Given the description of an element on the screen output the (x, y) to click on. 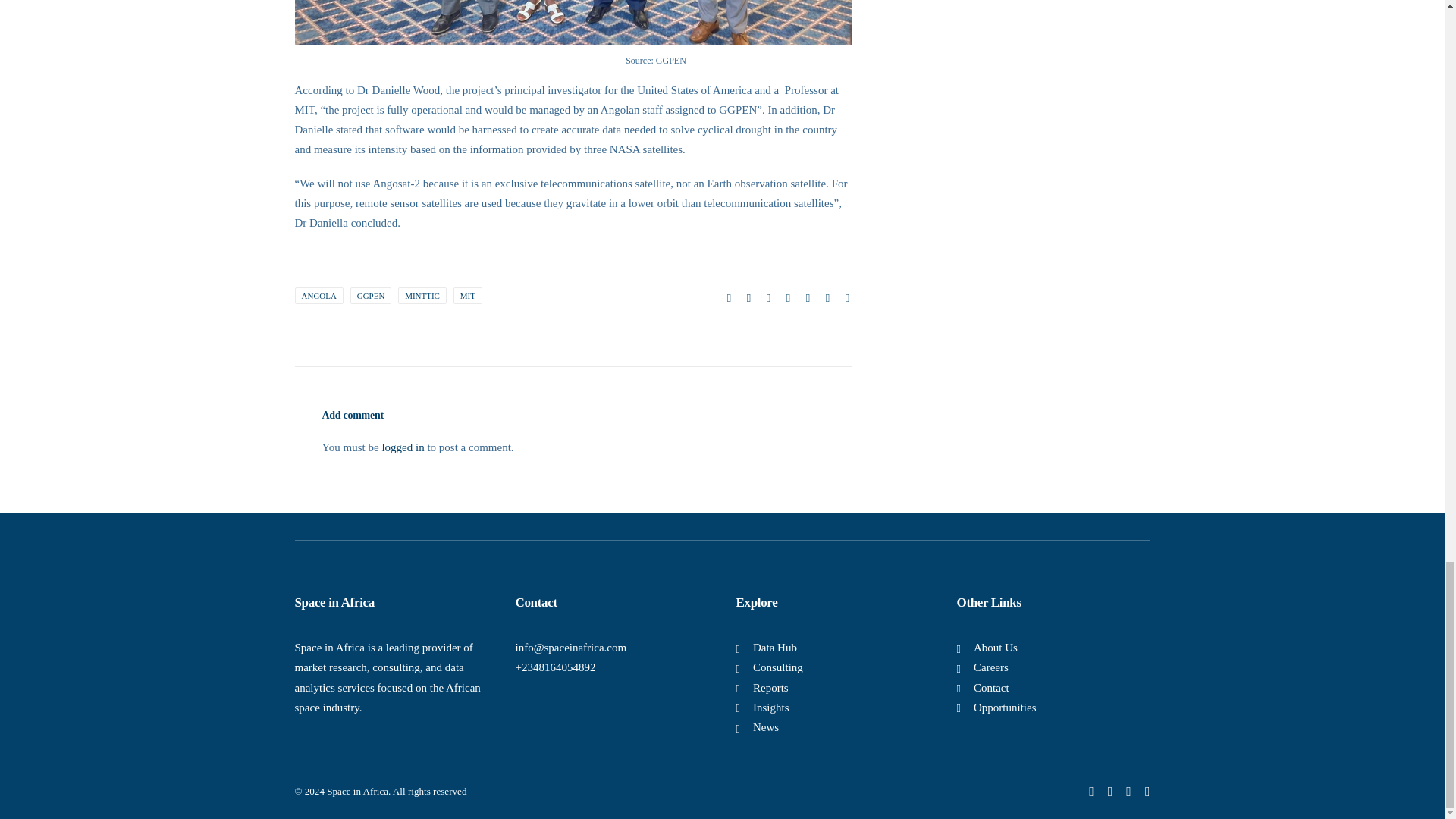
MINTTIC (421, 295)
ANGOLA (318, 295)
Data Hub (774, 647)
Insights (770, 707)
Reports (770, 687)
MIT (466, 295)
logged in (402, 447)
GGPEN (370, 295)
Consulting (777, 666)
